Given the description of an element on the screen output the (x, y) to click on. 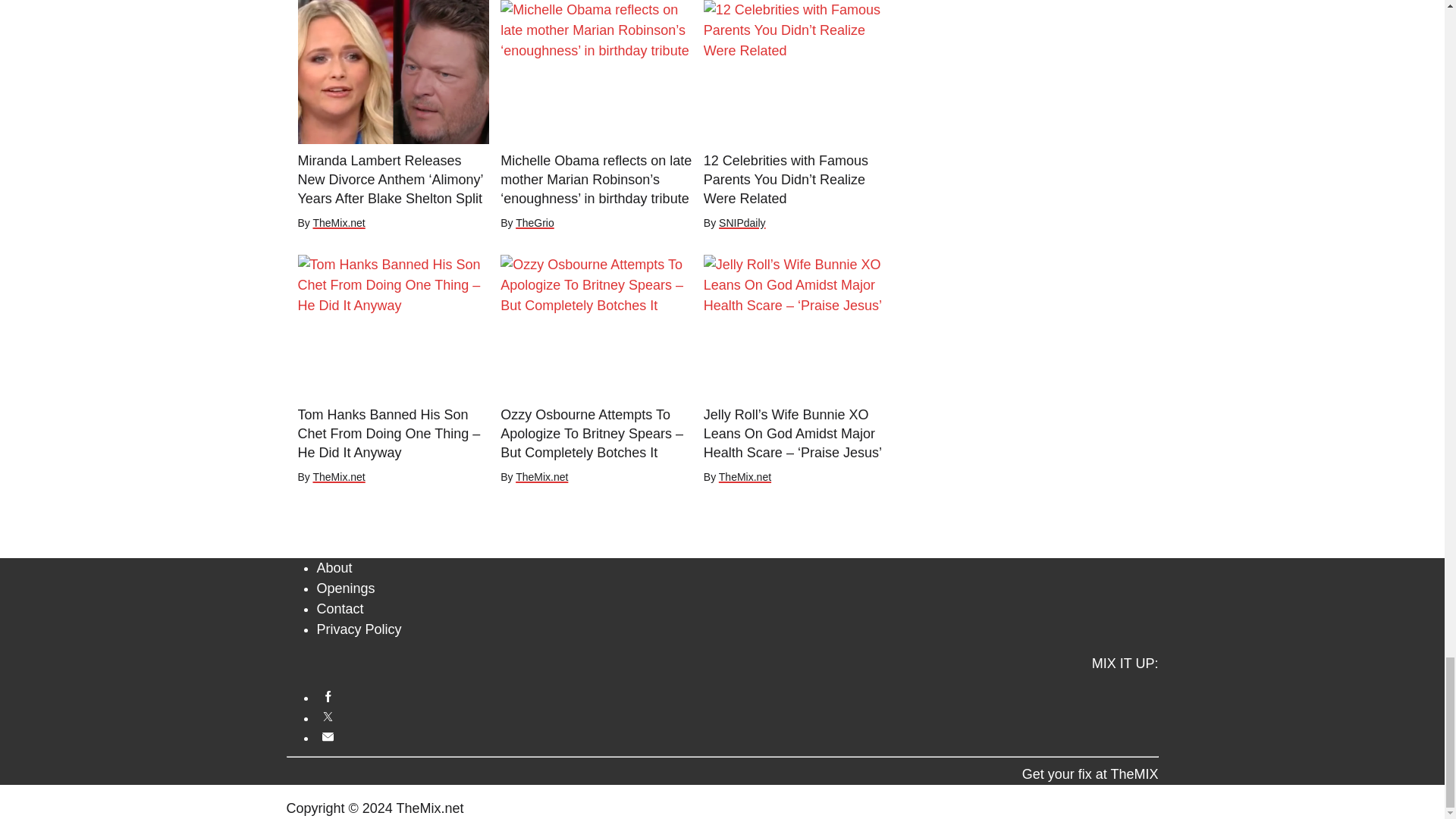
Follow us on Facebook (737, 696)
Follow us on Twitter (737, 716)
Send us an email (737, 736)
